Given the description of an element on the screen output the (x, y) to click on. 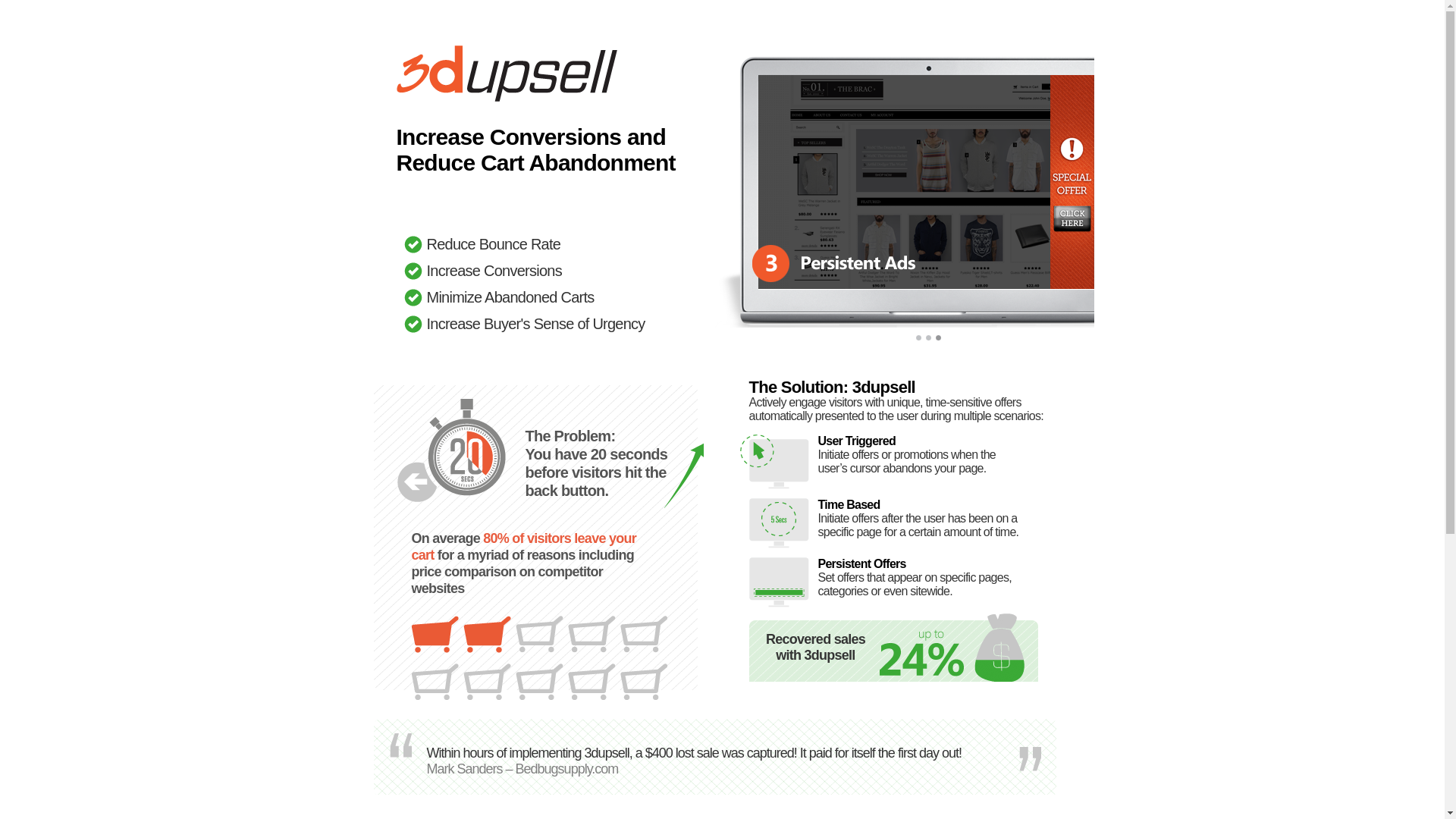
2 Element type: text (928, 342)
1 Element type: text (918, 342)
3 Element type: text (938, 342)
